Given the description of an element on the screen output the (x, y) to click on. 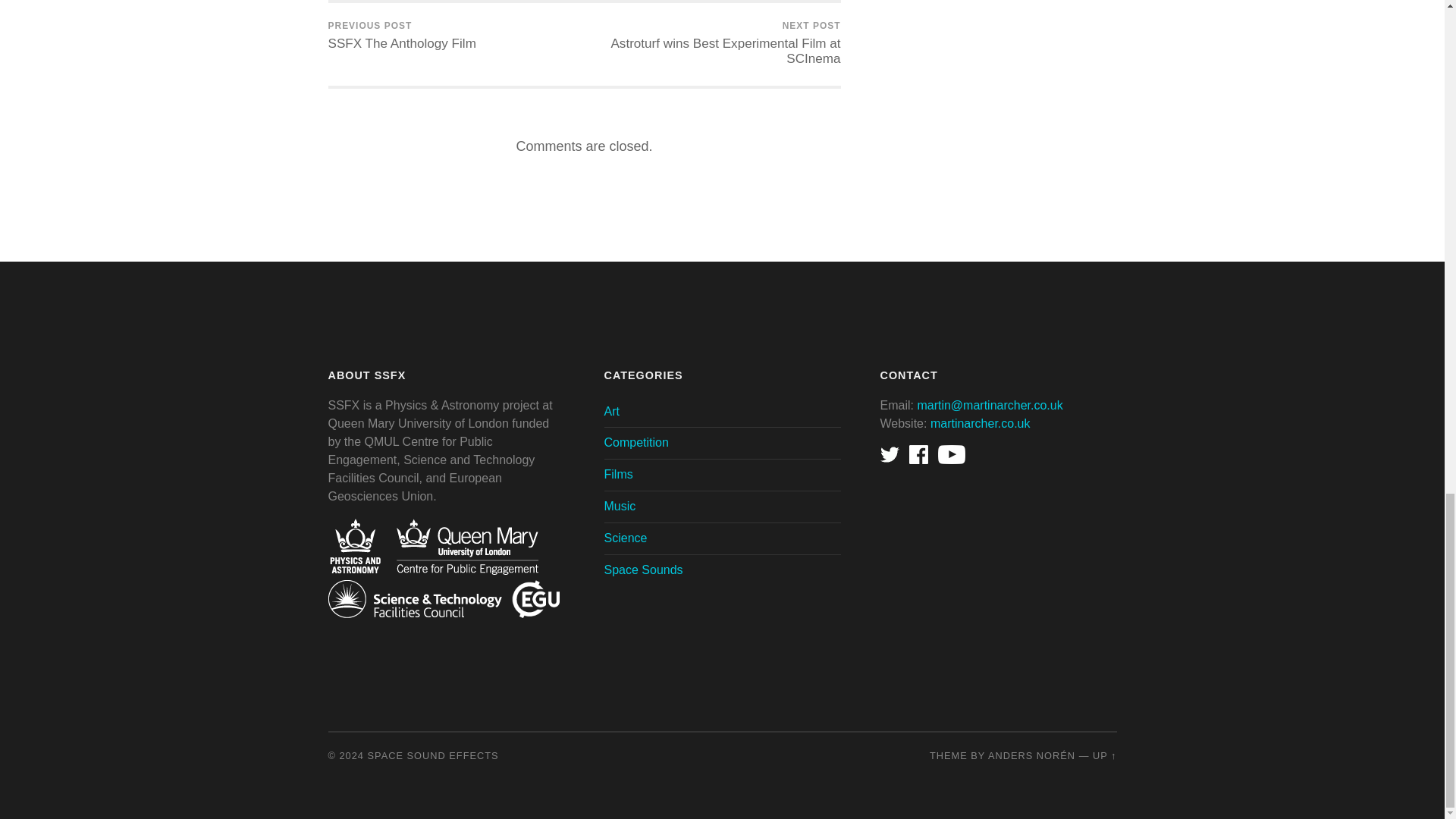
To the top (401, 36)
